Given the description of an element on the screen output the (x, y) to click on. 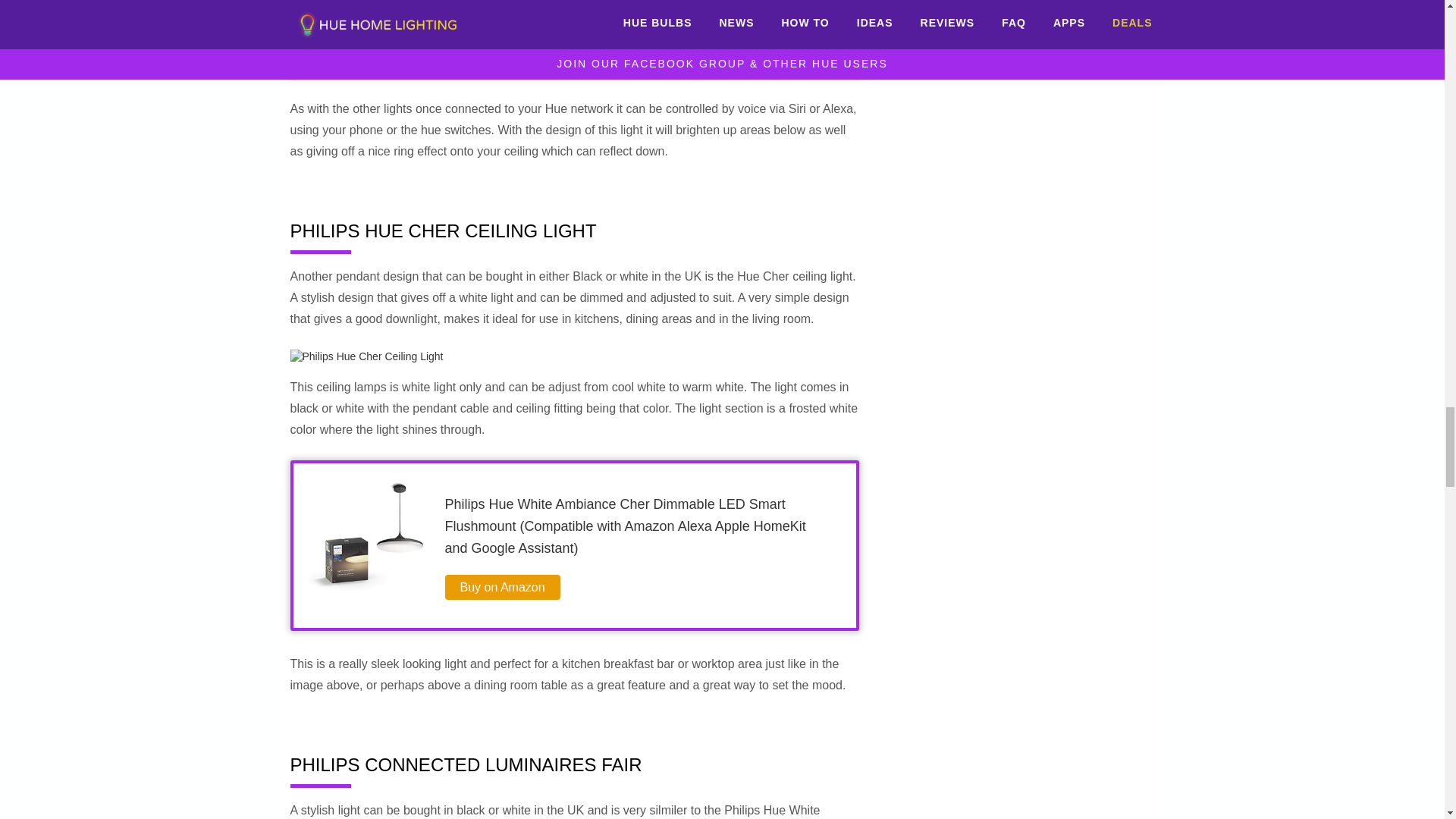
View Offer on Amazon (501, 32)
Buy on Amazon (501, 32)
View Offer on Amazon (501, 586)
Buy on Amazon (501, 586)
